Given the description of an element on the screen output the (x, y) to click on. 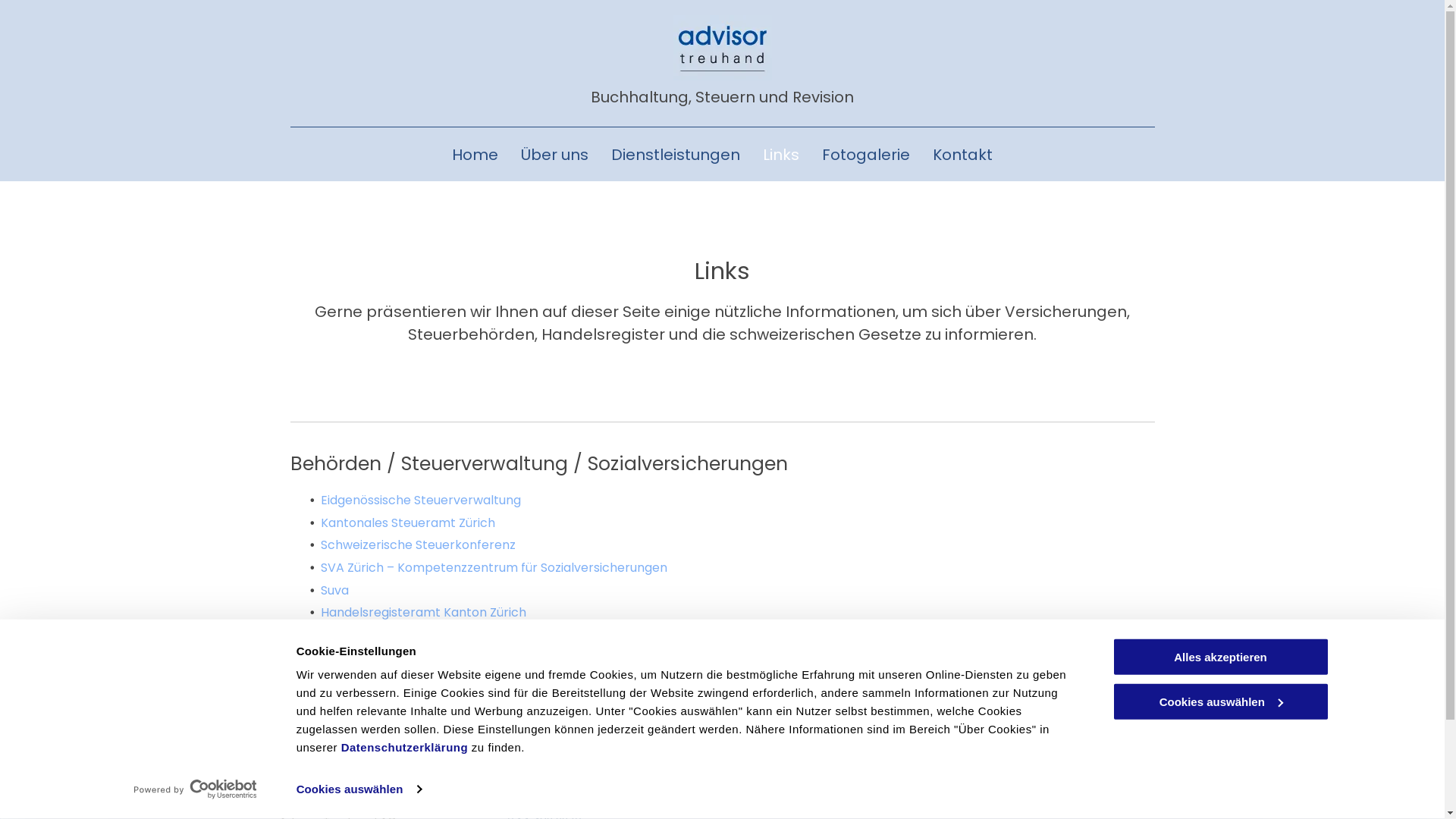
Alles akzeptieren Element type: text (1219, 656)
Dienstleistungen Element type: text (675, 154)
OR (Obligationsrecht) Element type: text (386, 719)
ZGB (Zivilgesetzbuch) Element type: text (385, 696)
Fotogalerie Element type: text (865, 154)
Schweizerische Steuerkonferenz Element type: text (417, 544)
Home Element type: text (474, 154)
Impressum Element type: text (1133, 803)
Links Element type: text (780, 154)
Suva Element type: text (334, 590)
Kontakt Element type: text (962, 154)
